Given the description of an element on the screen output the (x, y) to click on. 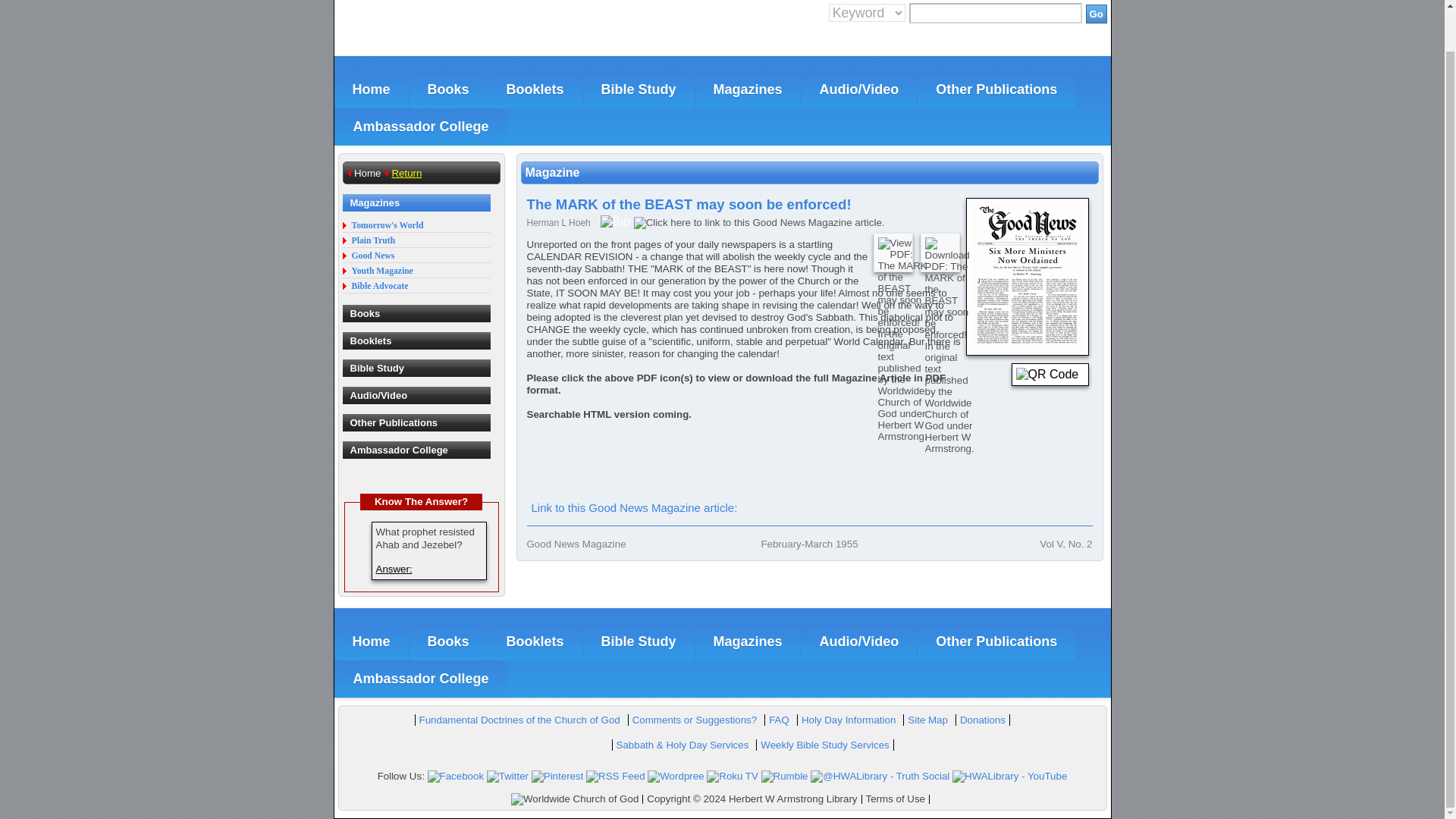
Home (370, 89)
HWALibrary - Pinterest (557, 776)
HWALibrary - RSS Feed (615, 776)
Bible Study (638, 89)
HWALibrary - Rumble (784, 776)
Booklets (534, 89)
Other Publications (996, 89)
HWALibrary - Wordpress (675, 776)
